Given the description of an element on the screen output the (x, y) to click on. 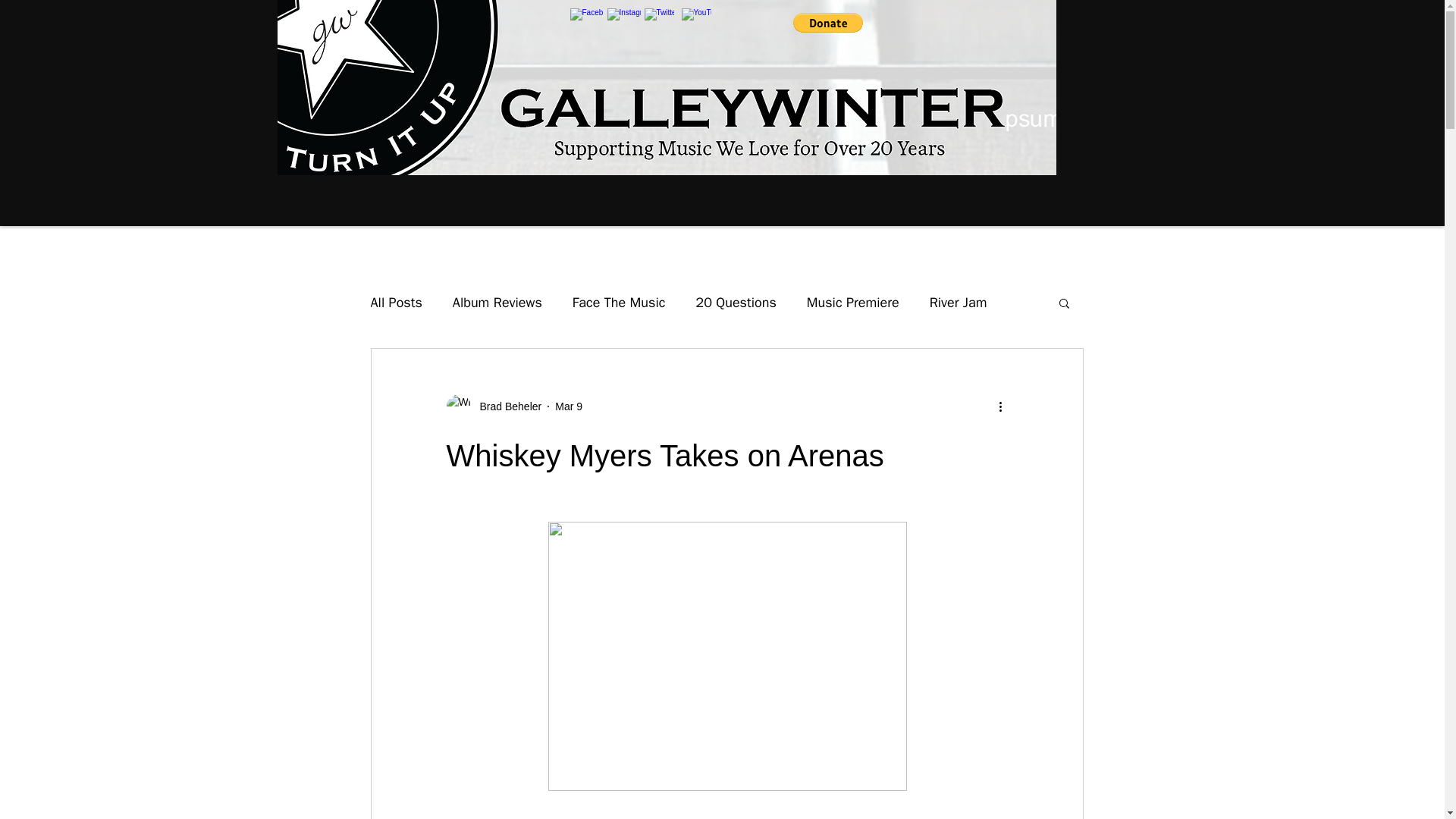
Music Premiere (852, 302)
Mar 9 (568, 406)
All Posts (395, 302)
River Jam (958, 302)
Album Reviews (496, 302)
Face The Music (618, 302)
20 Questions (735, 302)
Brad Beheler (505, 406)
Brad Beheler (493, 405)
